Given the description of an element on the screen output the (x, y) to click on. 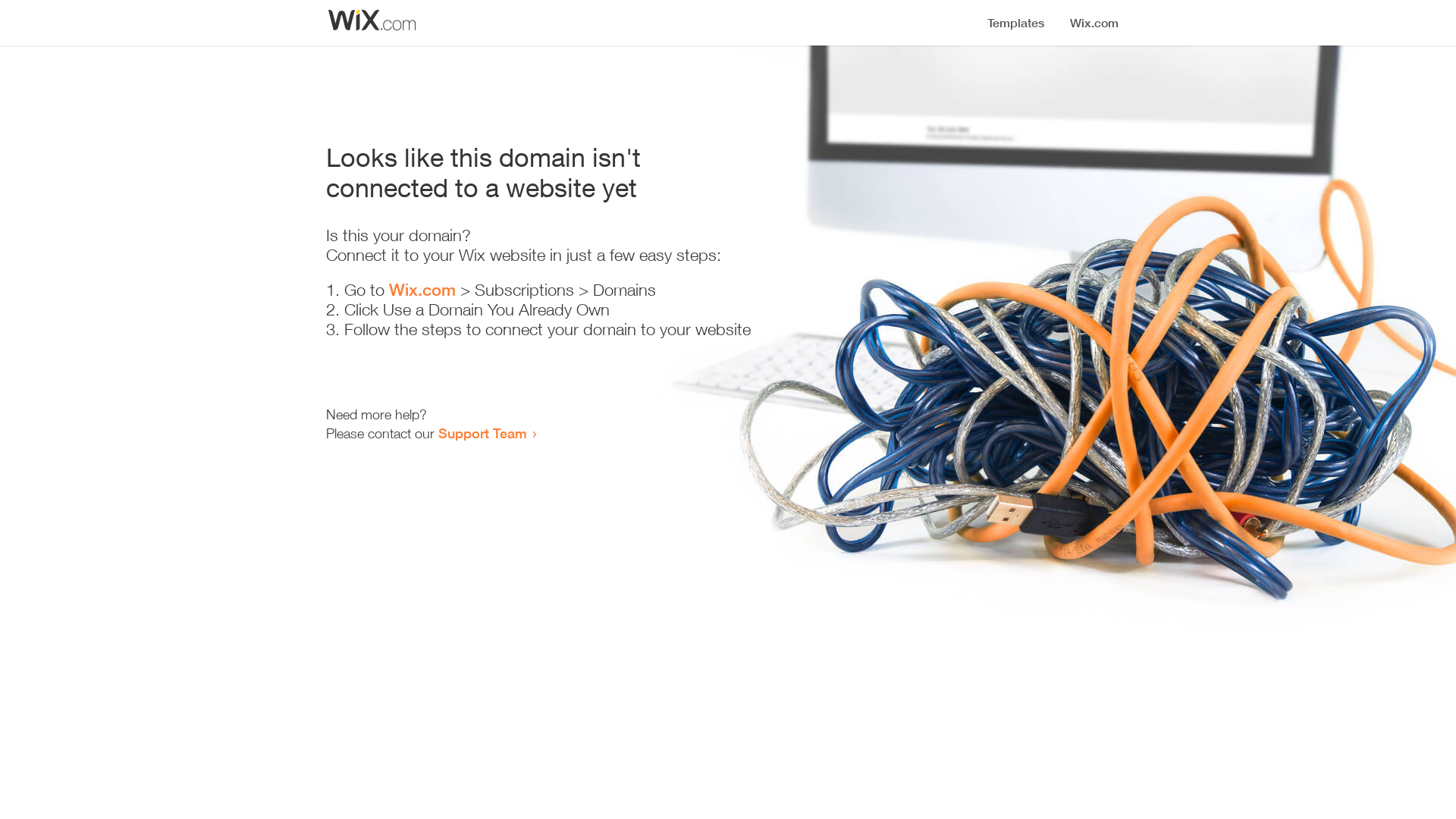
Support Team Element type: text (482, 432)
Wix.com Element type: text (422, 289)
